Given the description of an element on the screen output the (x, y) to click on. 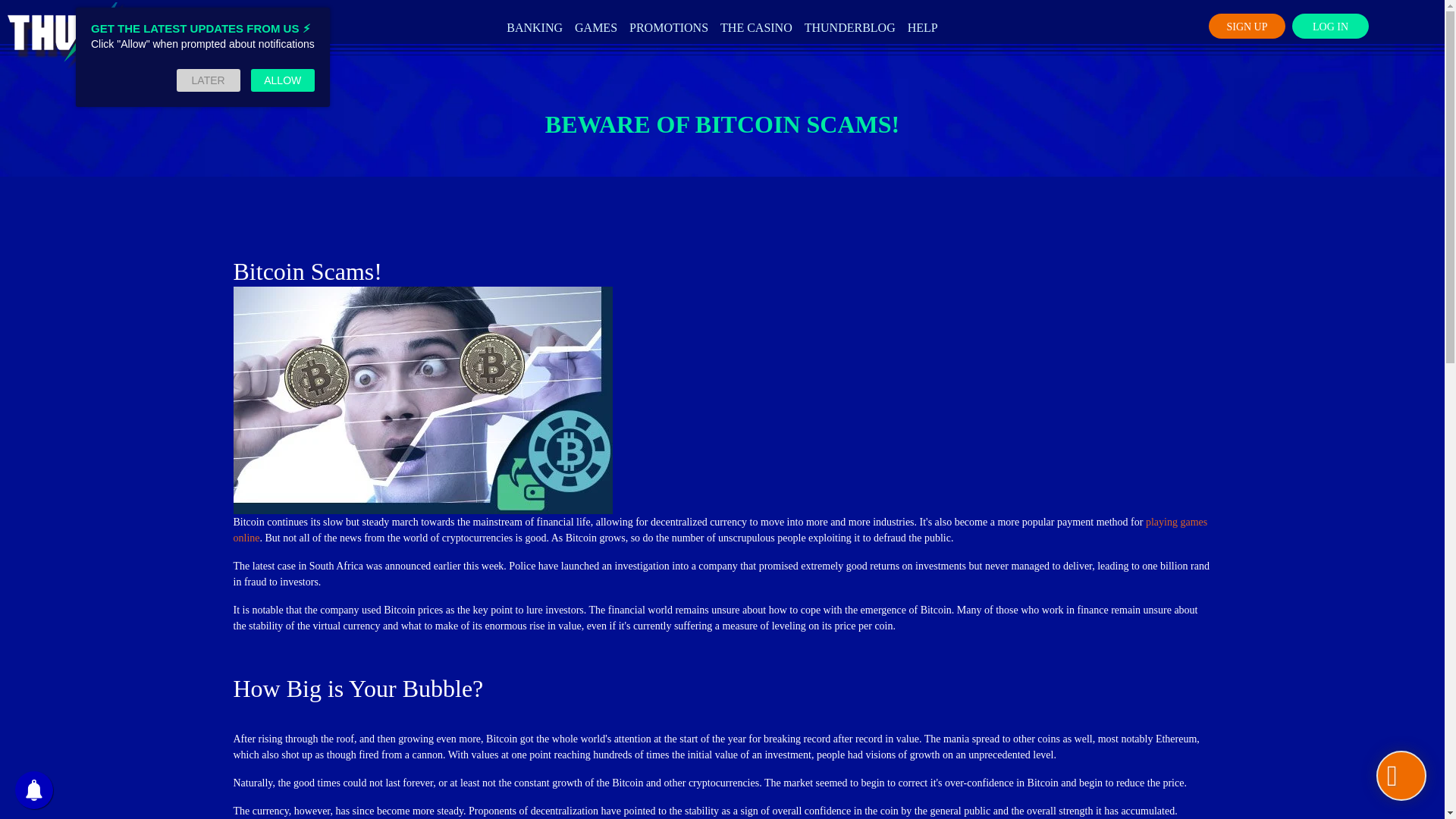
playing games online (720, 529)
PROMOTIONS (668, 27)
BANKING (534, 27)
GAMES (596, 27)
LOG IN (1330, 25)
HELP (922, 27)
SIGN UP (1246, 25)
THUNDERBLOG (849, 27)
